Given the description of an element on the screen output the (x, y) to click on. 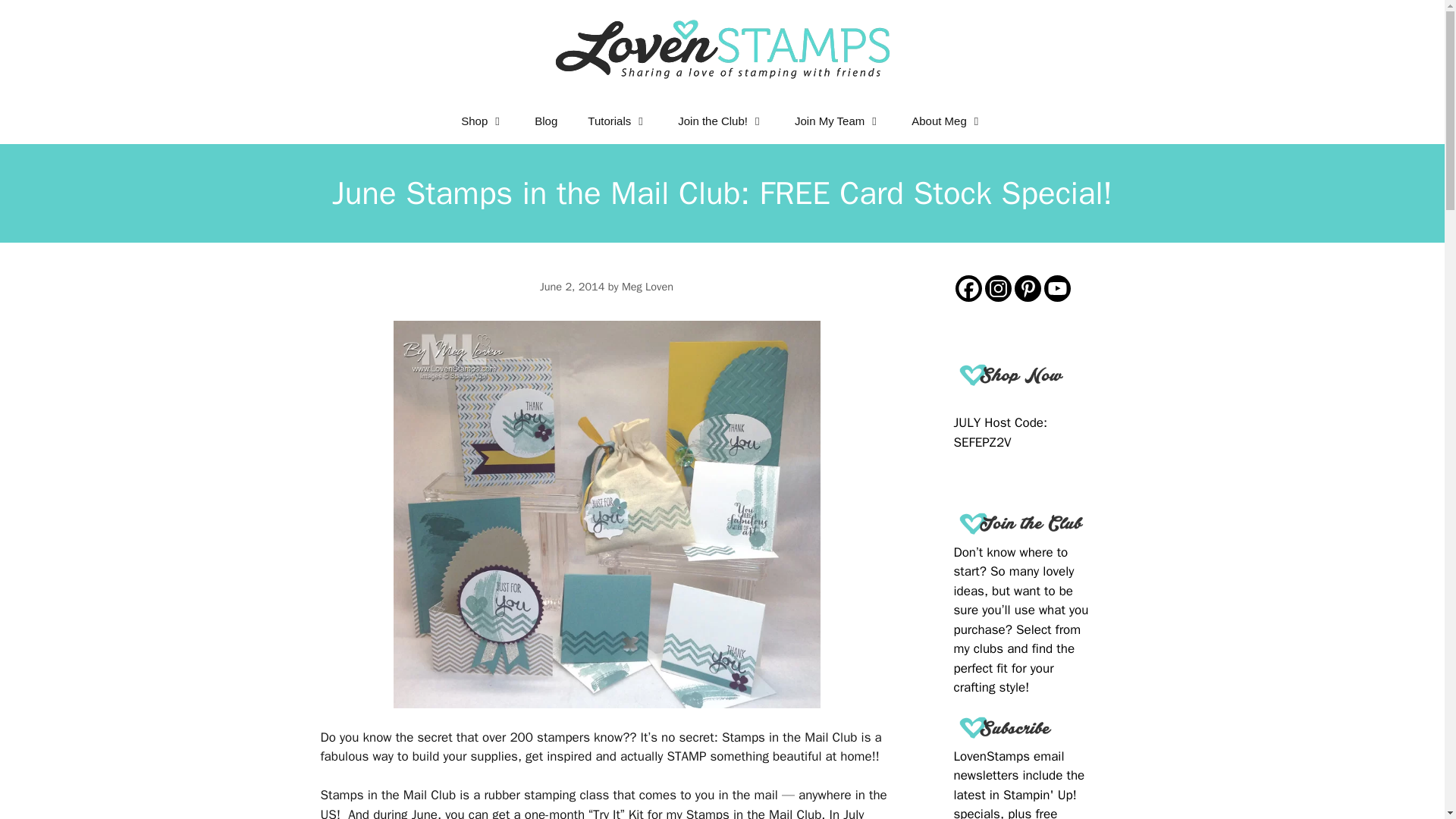
Meg Loven (646, 286)
Tutorials (617, 121)
Join the Club! (720, 121)
About Meg (947, 121)
Shop (482, 121)
Join My Community and Have It ALL! (837, 121)
About Meg Loven (947, 121)
Blog (545, 121)
Join My Team (837, 121)
